Given the description of an element on the screen output the (x, y) to click on. 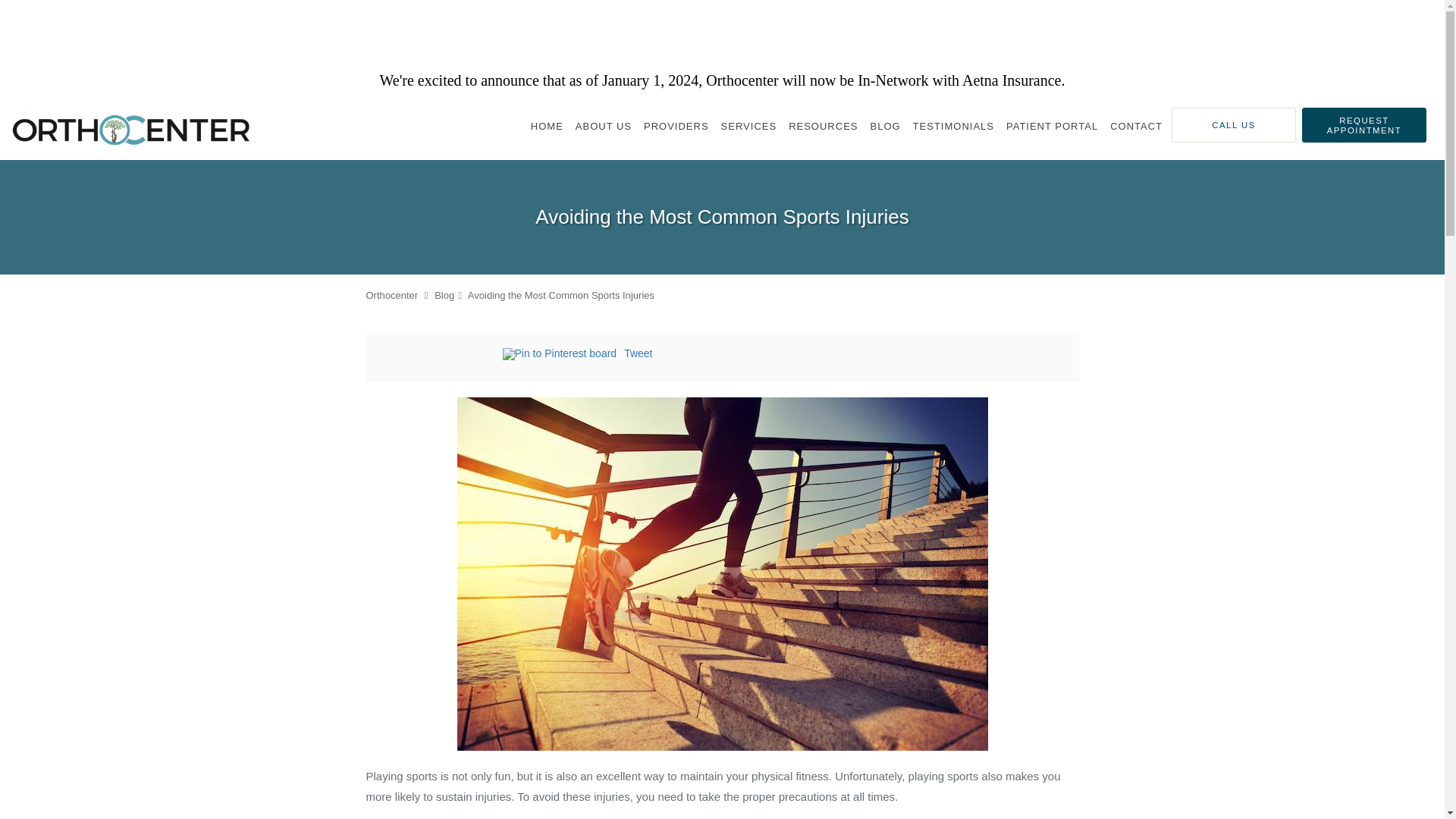
CALL US (1233, 124)
CONTACT (1136, 125)
REQUEST APPOINTMENT (1363, 124)
RESOURCES (823, 125)
SERVICES (748, 125)
Facebook social button (441, 355)
PATIENT PORTAL (1051, 125)
Skip to main content (74, 103)
ABOUT US (603, 125)
TESTIMONIALS (953, 125)
PROVIDERS (675, 125)
